Given the description of an element on the screen output the (x, y) to click on. 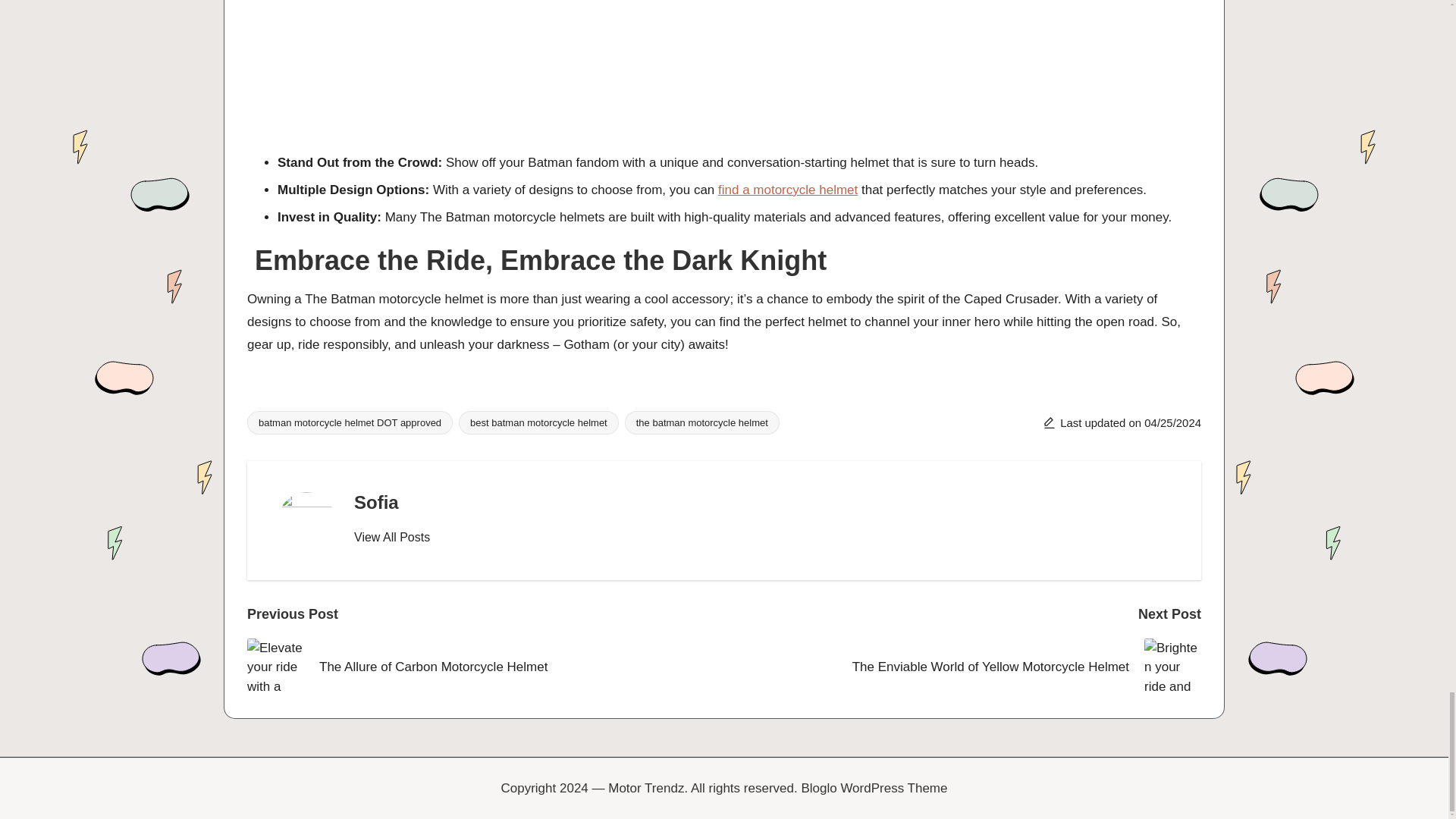
The Allure of Carbon Motorcycle Helmet (485, 666)
best batman motorcycle helmet (538, 422)
batman motorcycle helmet DOT approved (349, 422)
Bloglo WordPress Theme (873, 788)
The Enviable World of Yellow Motorcycle Helmet (962, 666)
Sofia (375, 502)
the batman motorcycle helmet (701, 422)
View All Posts (391, 537)
find a motorcycle helmet (787, 189)
